Given the description of an element on the screen output the (x, y) to click on. 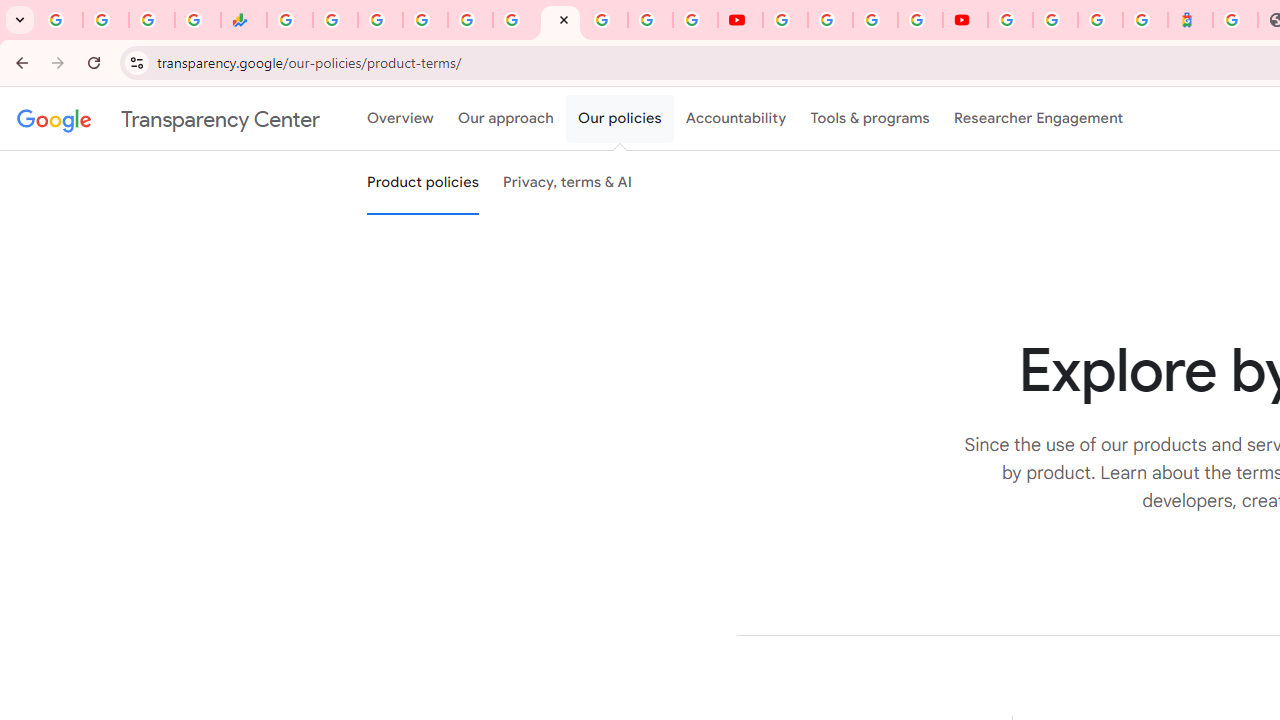
YouTube (740, 20)
Tools & programs (869, 119)
YouTube (784, 20)
Sign in - Google Accounts (1055, 20)
Our policies (619, 119)
Sign in - Google Accounts (1010, 20)
Product policies (422, 183)
Privacy, terms & AI (568, 183)
Sign in - Google Accounts (605, 20)
